Given the description of an element on the screen output the (x, y) to click on. 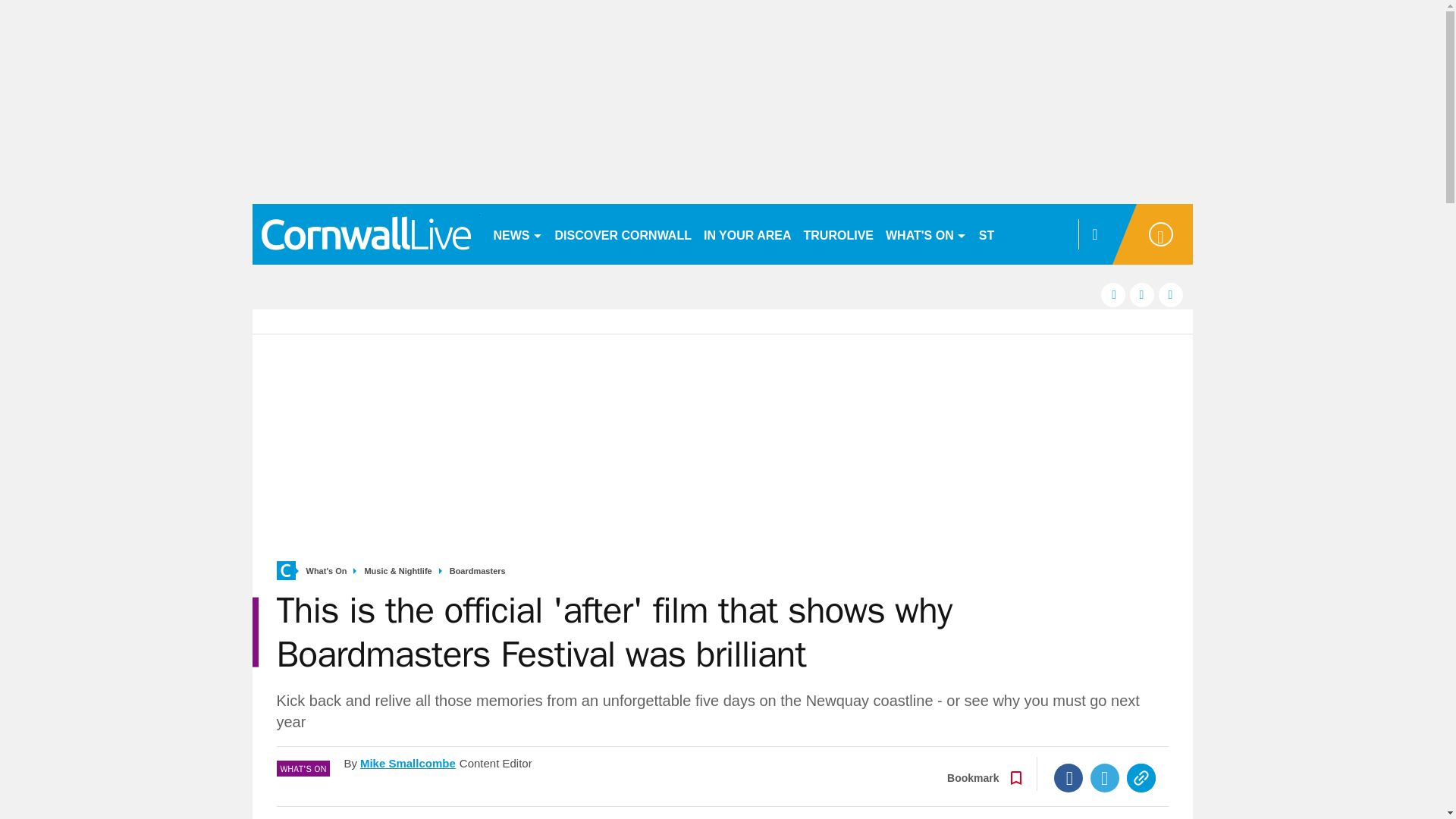
instagram (1170, 294)
ST AUSTELL (1015, 233)
WHAT'S ON (925, 233)
Twitter (1104, 777)
IN YOUR AREA (747, 233)
cornwalllive (365, 233)
DISCOVER CORNWALL (622, 233)
NEWS (517, 233)
facebook (1112, 294)
Facebook (1068, 777)
twitter (1141, 294)
TRUROLIVE (838, 233)
